Given the description of an element on the screen output the (x, y) to click on. 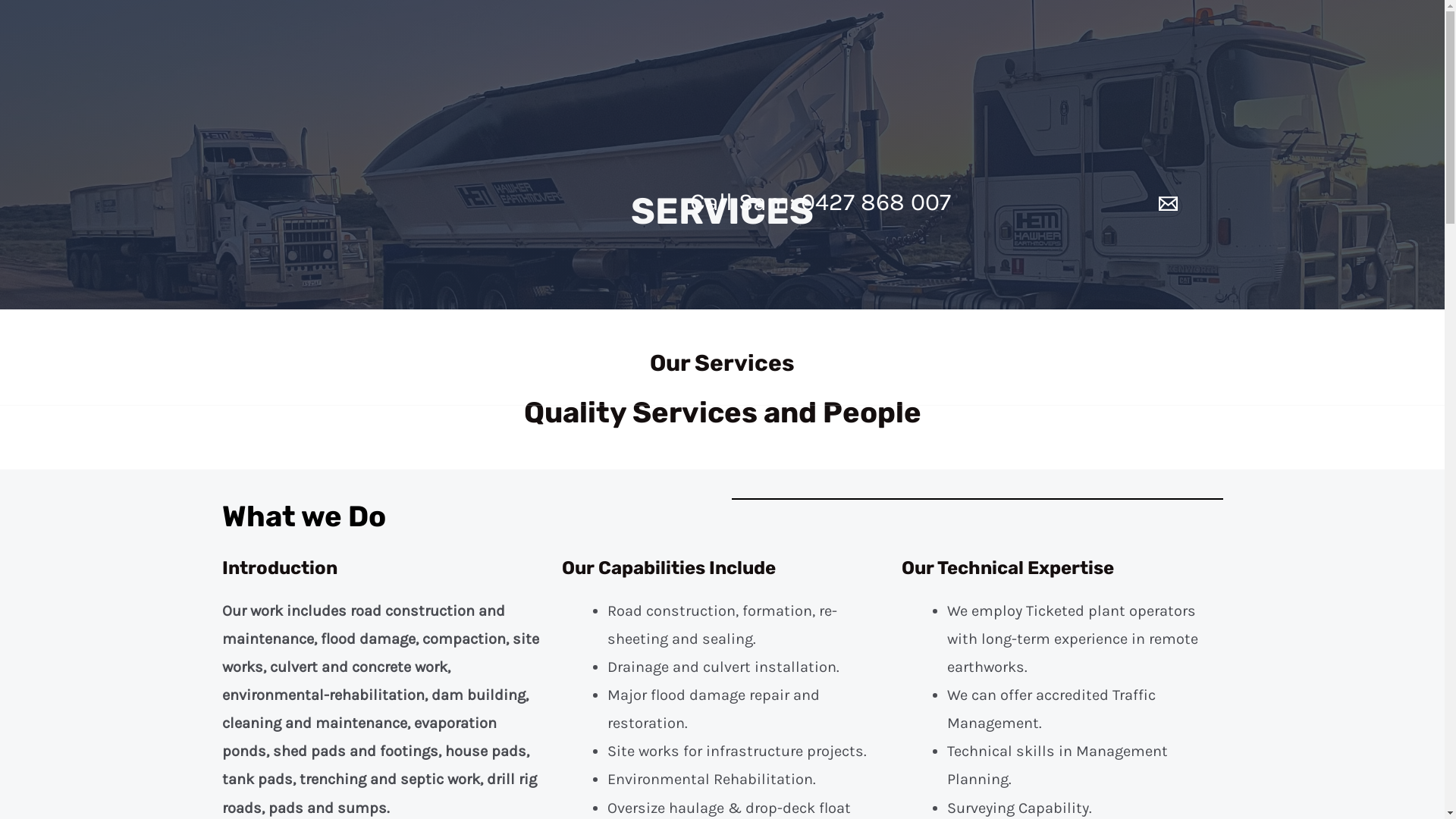
HOME Element type: text (511, 443)
SERVICES Element type: text (670, 443)
CONTACT Element type: text (922, 443)
0427 868 007 Element type: text (875, 202)
GALLERY Element type: text (832, 443)
STAFF Element type: text (753, 443)
ABOUT Element type: text (584, 443)
